Given the description of an element on the screen output the (x, y) to click on. 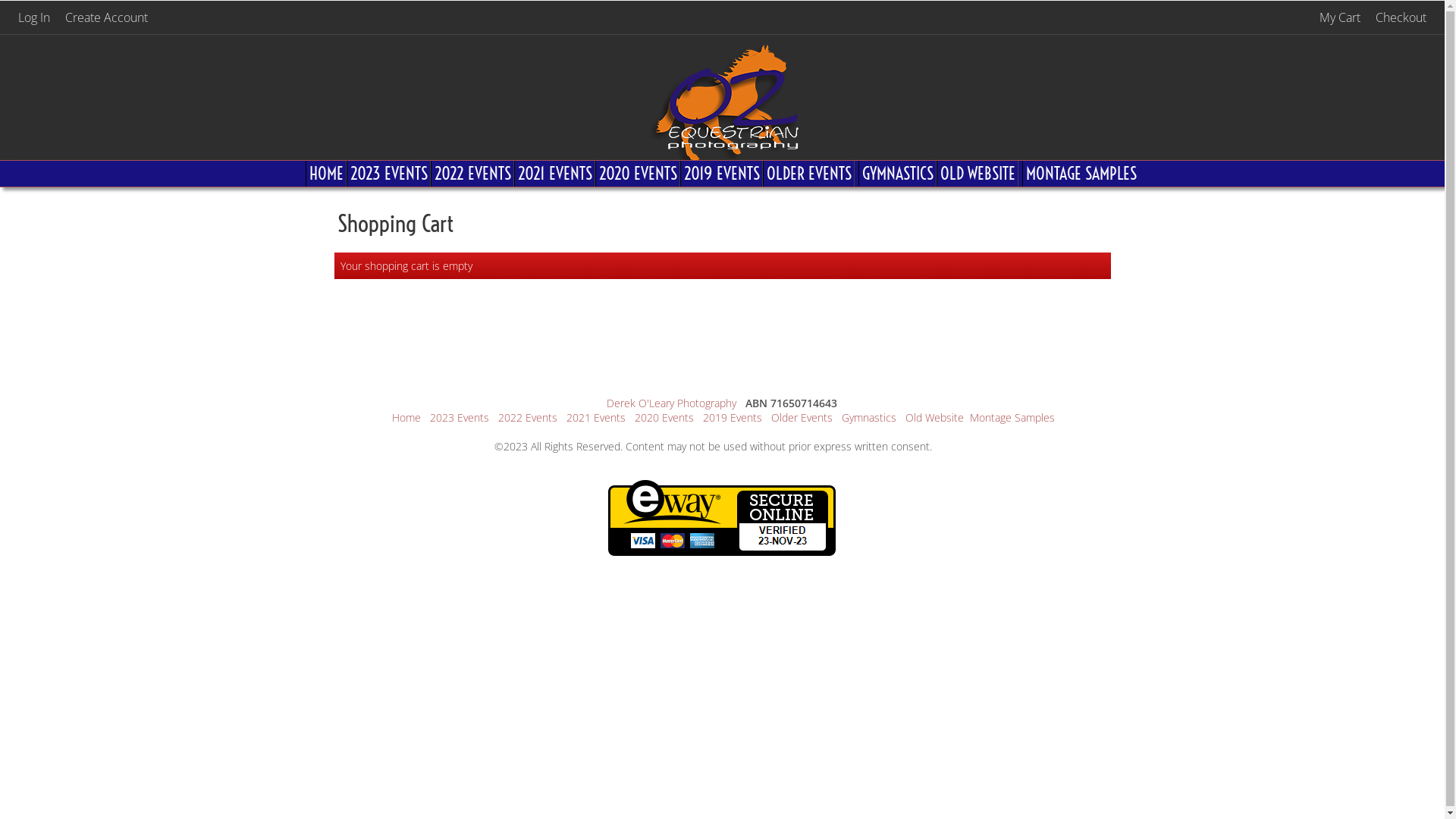
Log In Element type: text (34, 17)
2020 Events Element type: text (663, 417)
My Cart Element type: text (1341, 17)
OLDER EVENTS Element type: text (808, 173)
Gymnastics Element type: text (868, 417)
Home Element type: text (406, 417)
MONTAGE SAMPLES Element type: text (1080, 173)
2021 EVENTS Element type: text (554, 173)
OLD WEBSITE Element type: text (977, 173)
Older Events Element type: text (801, 417)
GYMNASTICS Element type: text (897, 173)
2020 EVENTS Element type: text (637, 173)
Derek O'Leary Photography Element type: text (671, 402)
2021 Events Element type: text (595, 417)
2019 Events Element type: text (732, 417)
2023 EVENTS Element type: text (388, 173)
HOME Element type: text (325, 173)
2019 EVENTS Element type: text (721, 173)
2023 Events Element type: text (459, 417)
Create Account Element type: text (106, 17)
Checkout Element type: text (1400, 17)
2022 Events Element type: text (527, 417)
2022 EVENTS Element type: text (472, 173)
Montage Samples Element type: text (1011, 417)
Old Website Element type: text (934, 417)
